Given the description of an element on the screen output the (x, y) to click on. 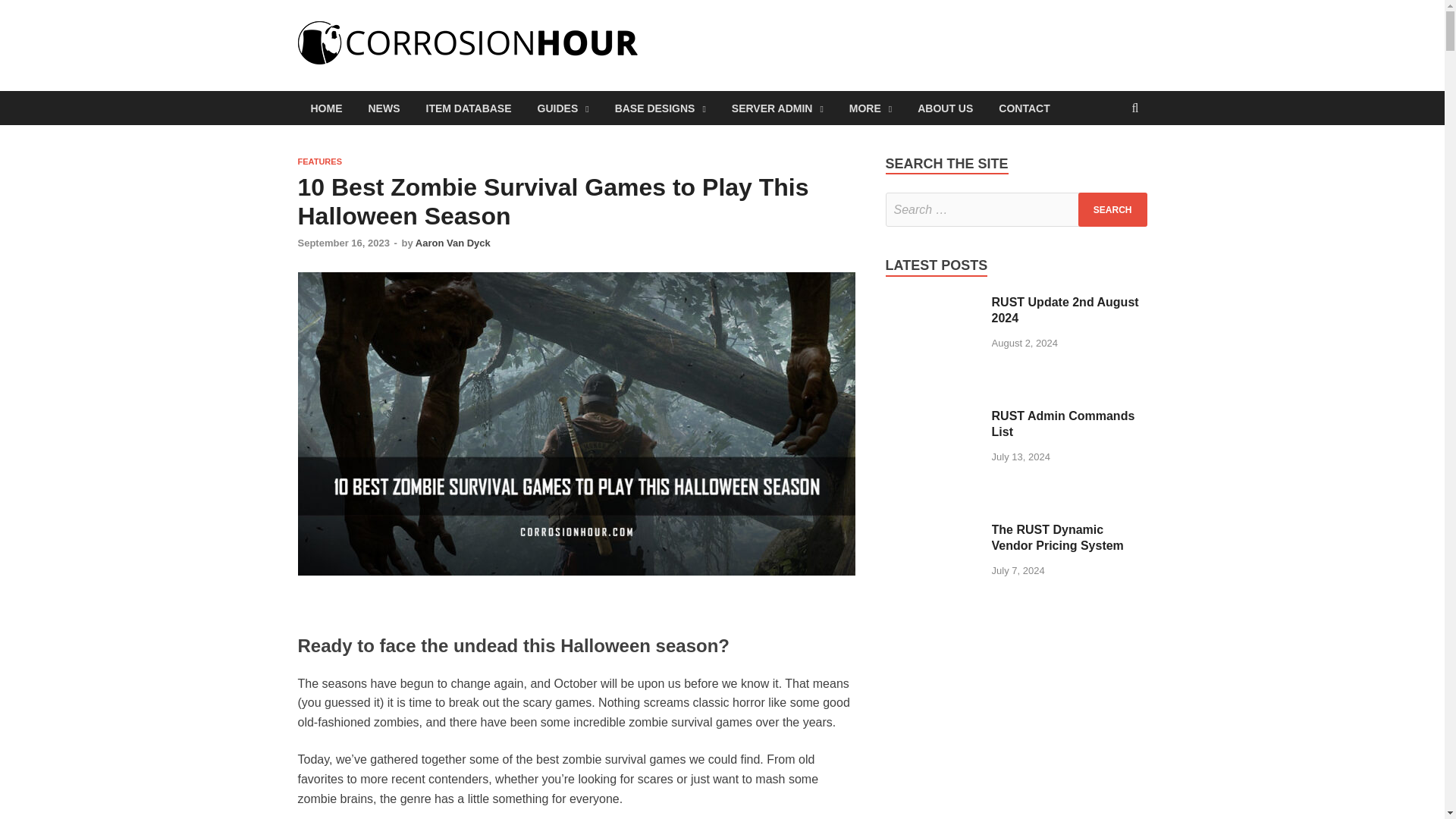
RUST Admin Commands List (932, 417)
GUIDES (563, 107)
ITEM DATABASE (468, 107)
Search (1112, 209)
RUST Update 2nd August 2024 (932, 303)
MORE (869, 107)
SERVER ADMIN (777, 107)
HOME (326, 107)
Search (1112, 209)
BASE DESIGNS (660, 107)
